Given the description of an element on the screen output the (x, y) to click on. 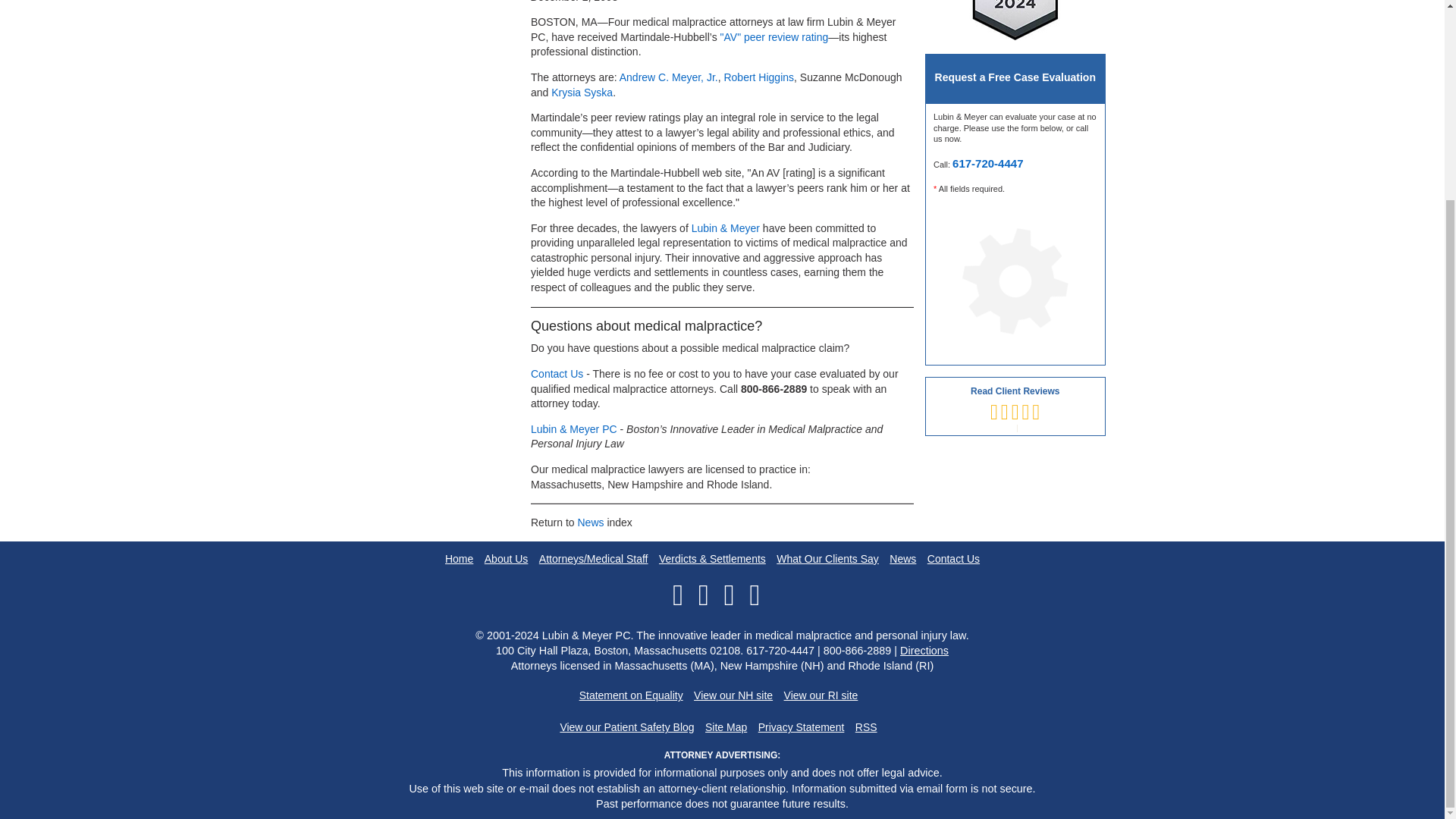
Robert Higgins (758, 77)
Patient Safety Blog (626, 727)
RI Medical Malpractice Attorneys (821, 695)
Read Client Reviews (1014, 405)
Contact Us (557, 373)
617-720-4447 (987, 163)
News (590, 522)
"AV" peer review rating (774, 37)
About Us (506, 558)
Andrew C. Meyer, Jr. (668, 77)
NH Medical Malpractice Attorneys (733, 695)
Krysia Syska (581, 92)
Home (459, 558)
